Given the description of an element on the screen output the (x, y) to click on. 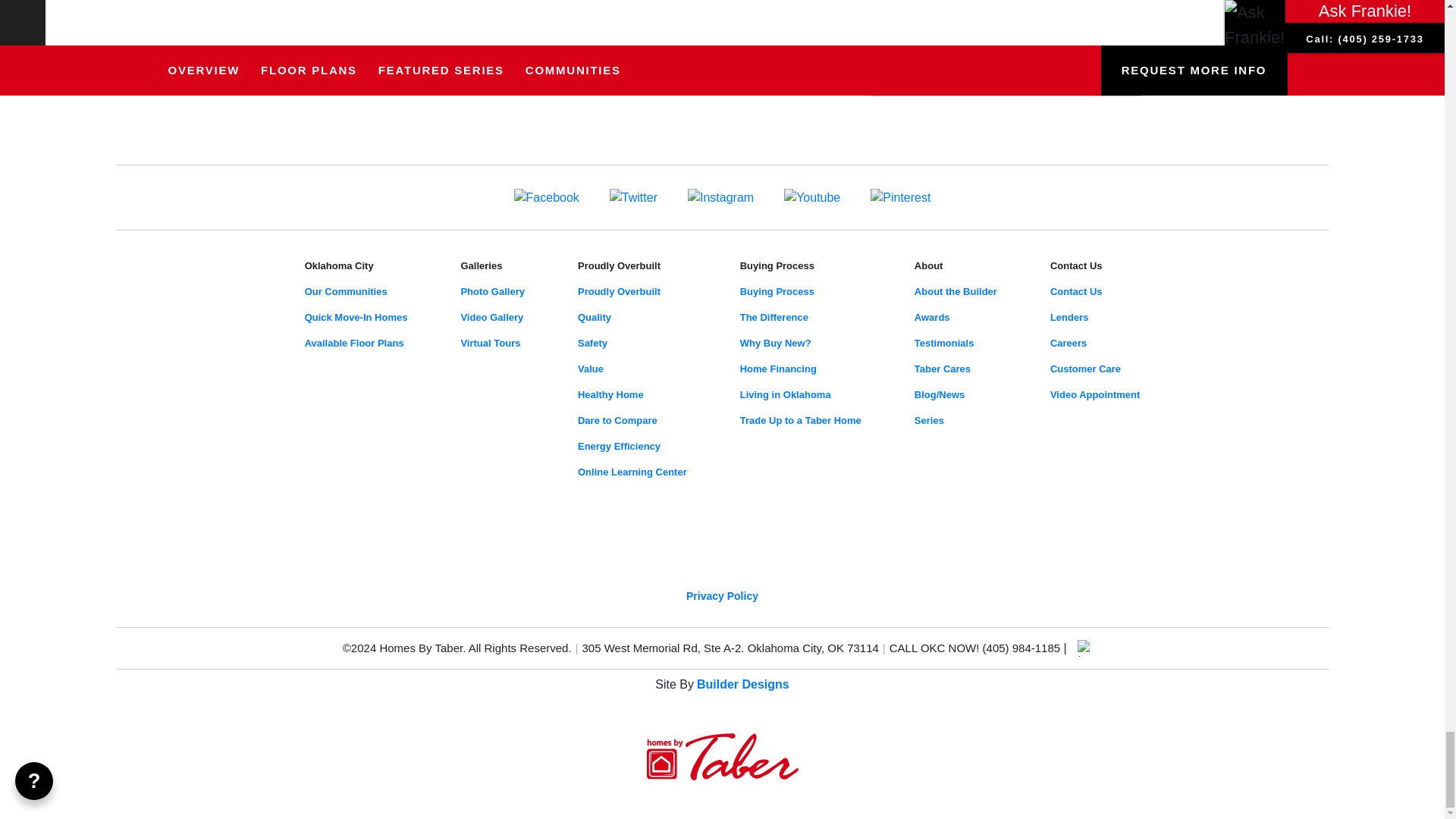
Yes (459, 5)
